Given the description of an element on the screen output the (x, y) to click on. 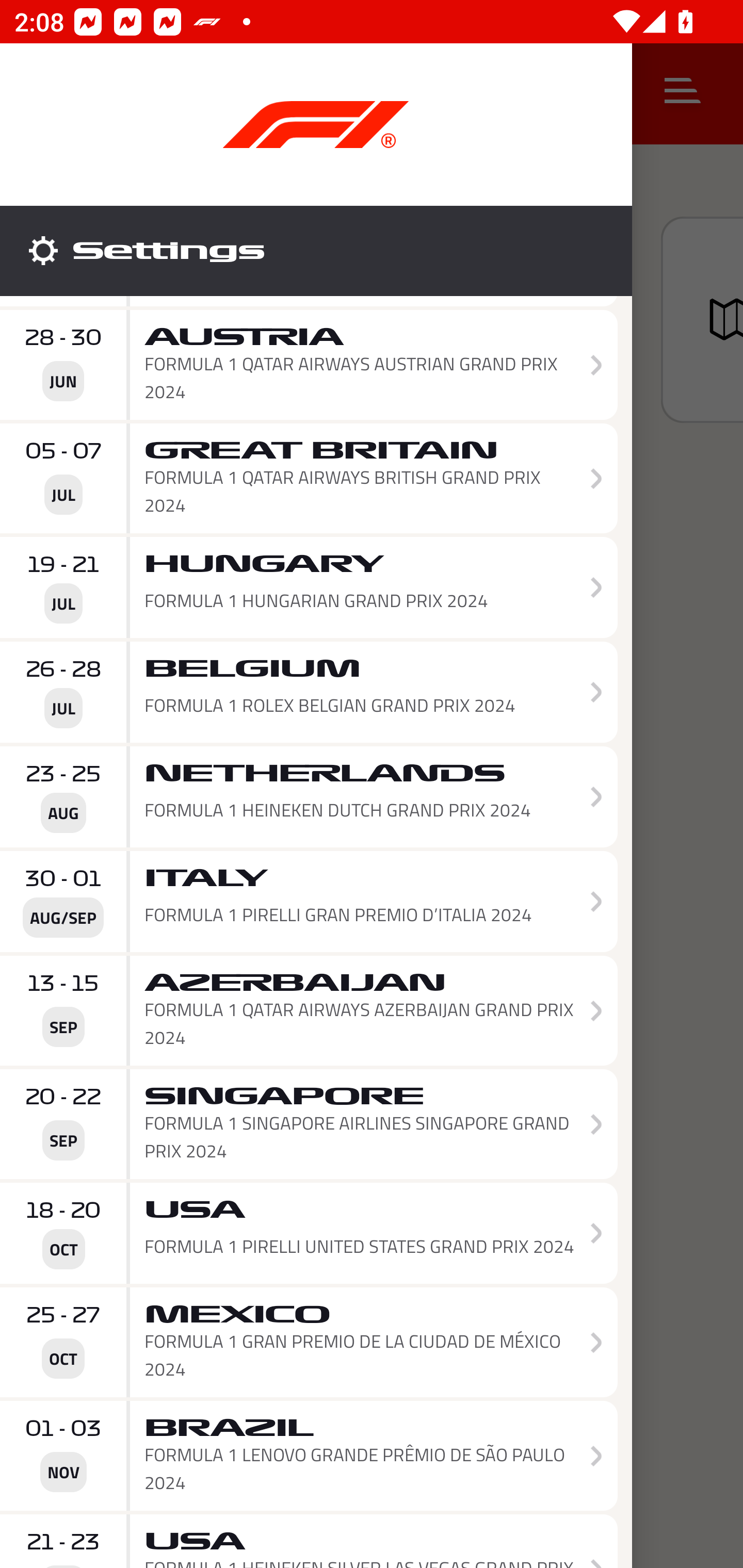
Settings (316, 250)
